Given the description of an element on the screen output the (x, y) to click on. 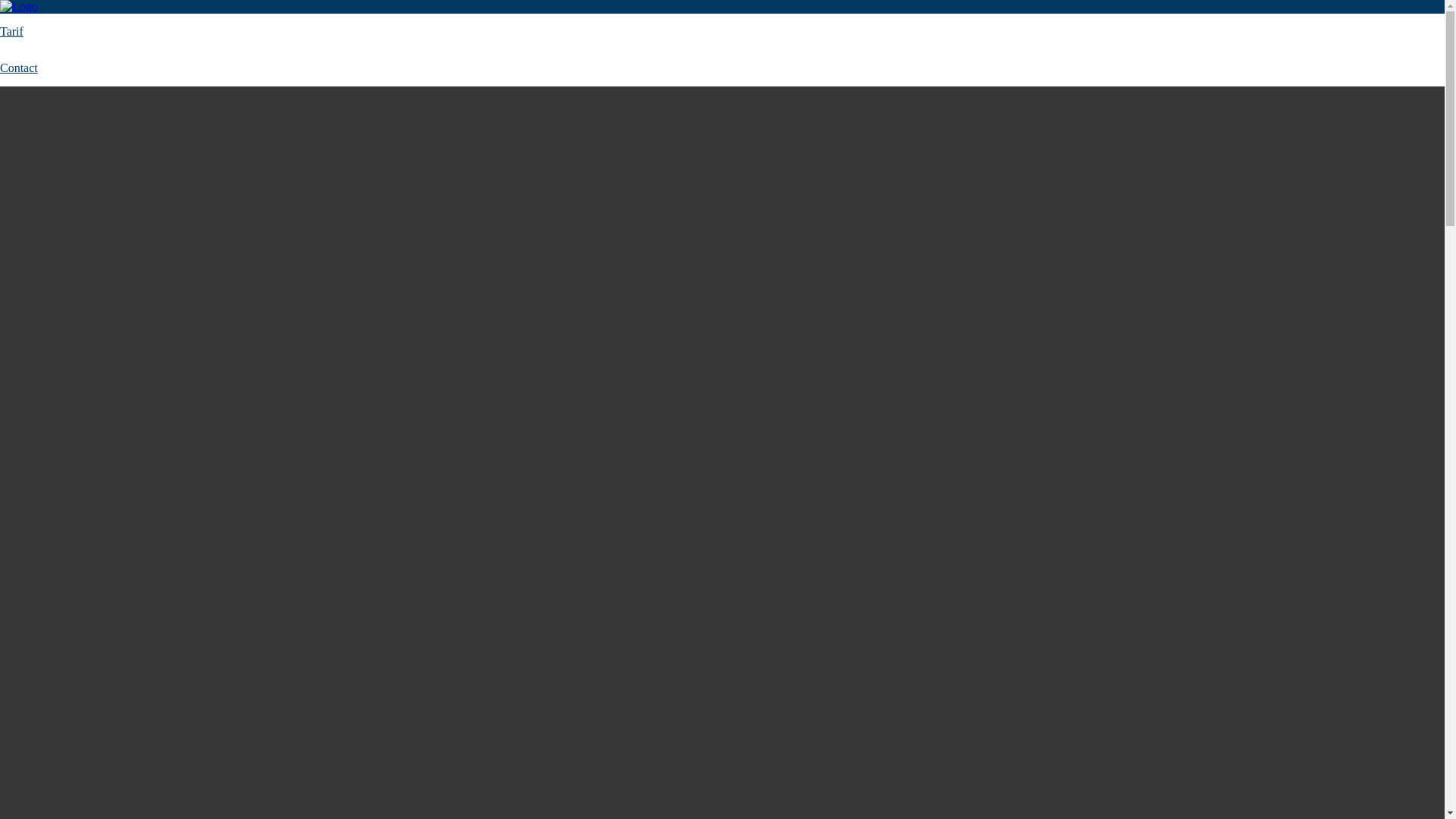
Tarif Element type: text (11, 31)
Contact Element type: text (18, 67)
